Given the description of an element on the screen output the (x, y) to click on. 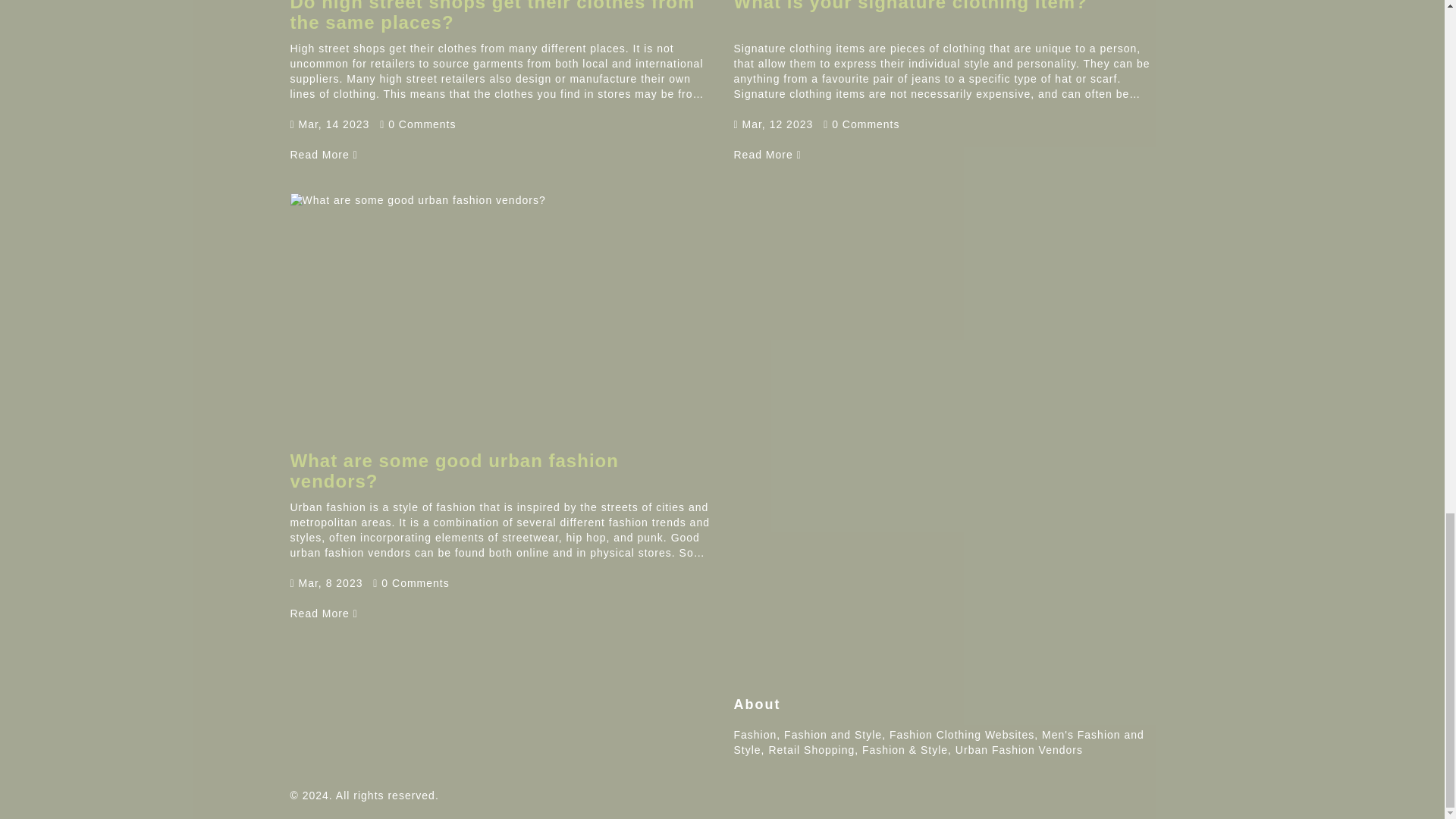
Read More (322, 613)
Do high street shops get their clothes from the same places? (322, 154)
What are some good urban fashion vendors? (322, 613)
Read More (767, 154)
What are some good urban fashion vendors? (453, 470)
Do high street shops get their clothes from the same places? (491, 15)
What is your signature clothing item? (910, 6)
What is your signature clothing item? (767, 154)
Read More (322, 154)
